Given the description of an element on the screen output the (x, y) to click on. 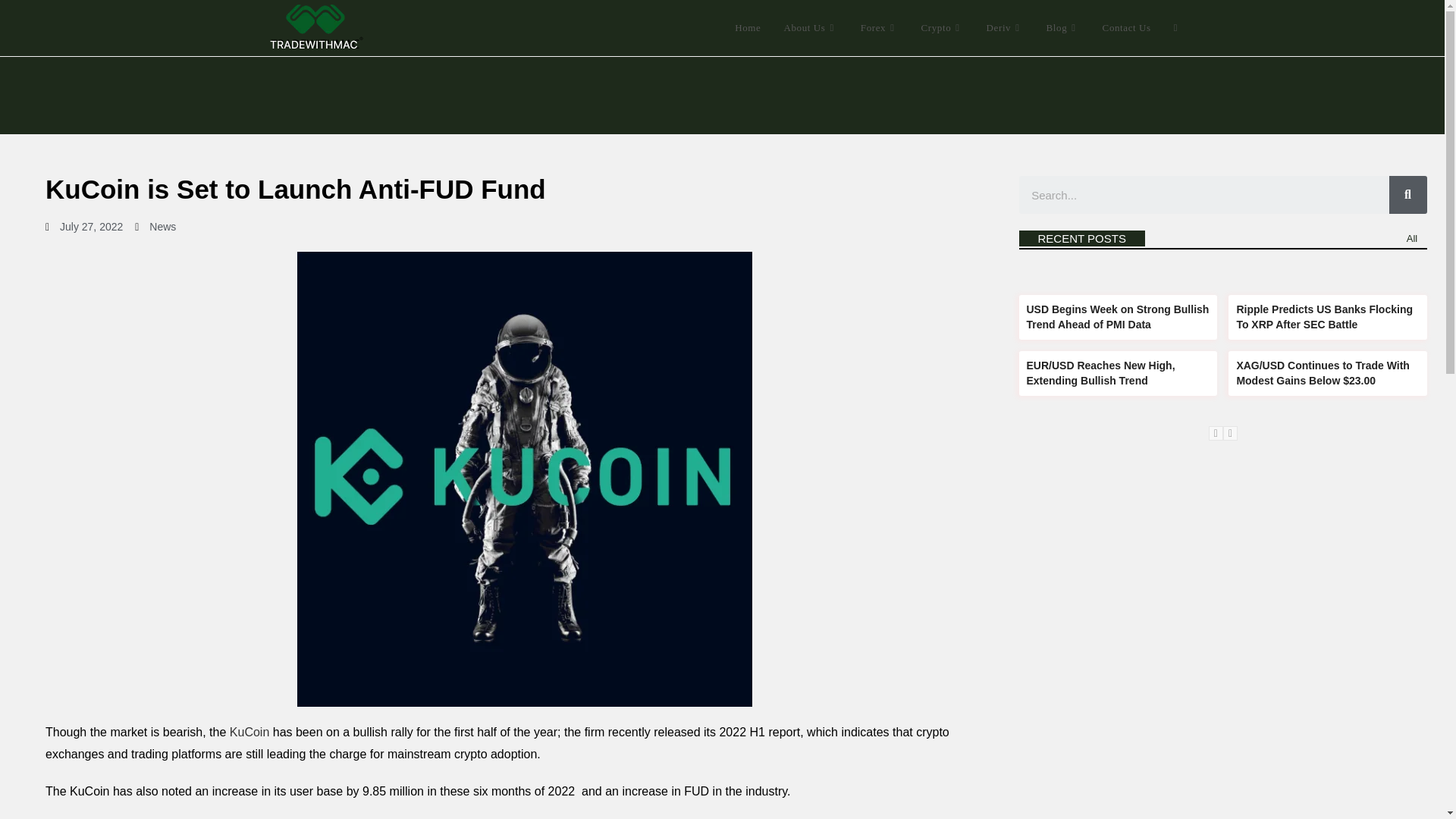
Search (1204, 194)
Contact Us (1125, 28)
Deriv (1005, 28)
Blog (1062, 28)
Crypto (942, 28)
Search (1407, 194)
About Us (809, 28)
Forex (879, 28)
